Given the description of an element on the screen output the (x, y) to click on. 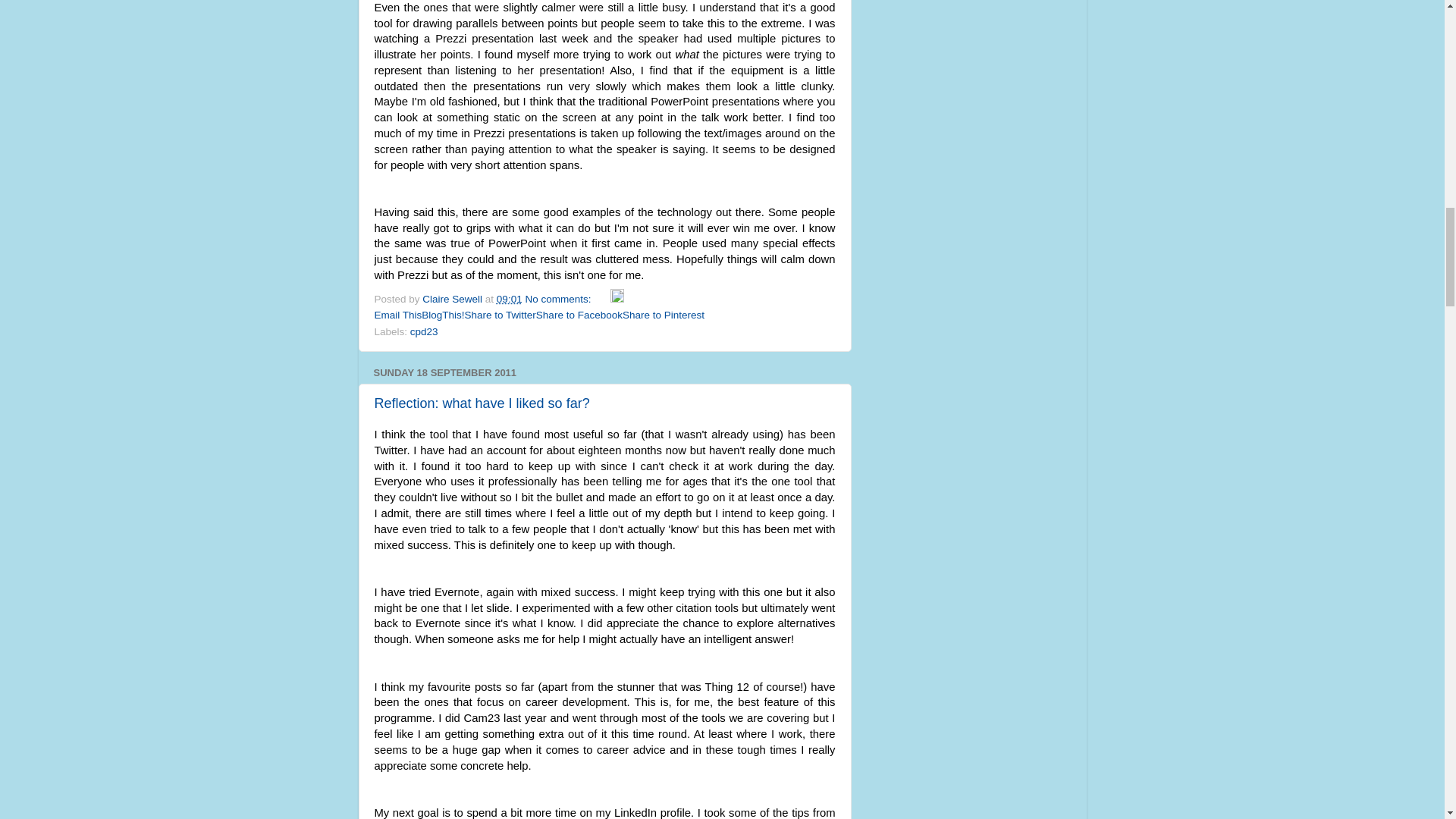
BlogThis! (443, 315)
Share to Pinterest (663, 315)
No comments: (559, 298)
Share to Facebook (579, 315)
09:01 (509, 298)
Claire Sewell (453, 298)
Share to Twitter (499, 315)
Email Post (602, 298)
Email This (398, 315)
permanent link (509, 298)
author profile (453, 298)
Edit Post (617, 298)
Email This (398, 315)
cpd23 (424, 331)
